Given the description of an element on the screen output the (x, y) to click on. 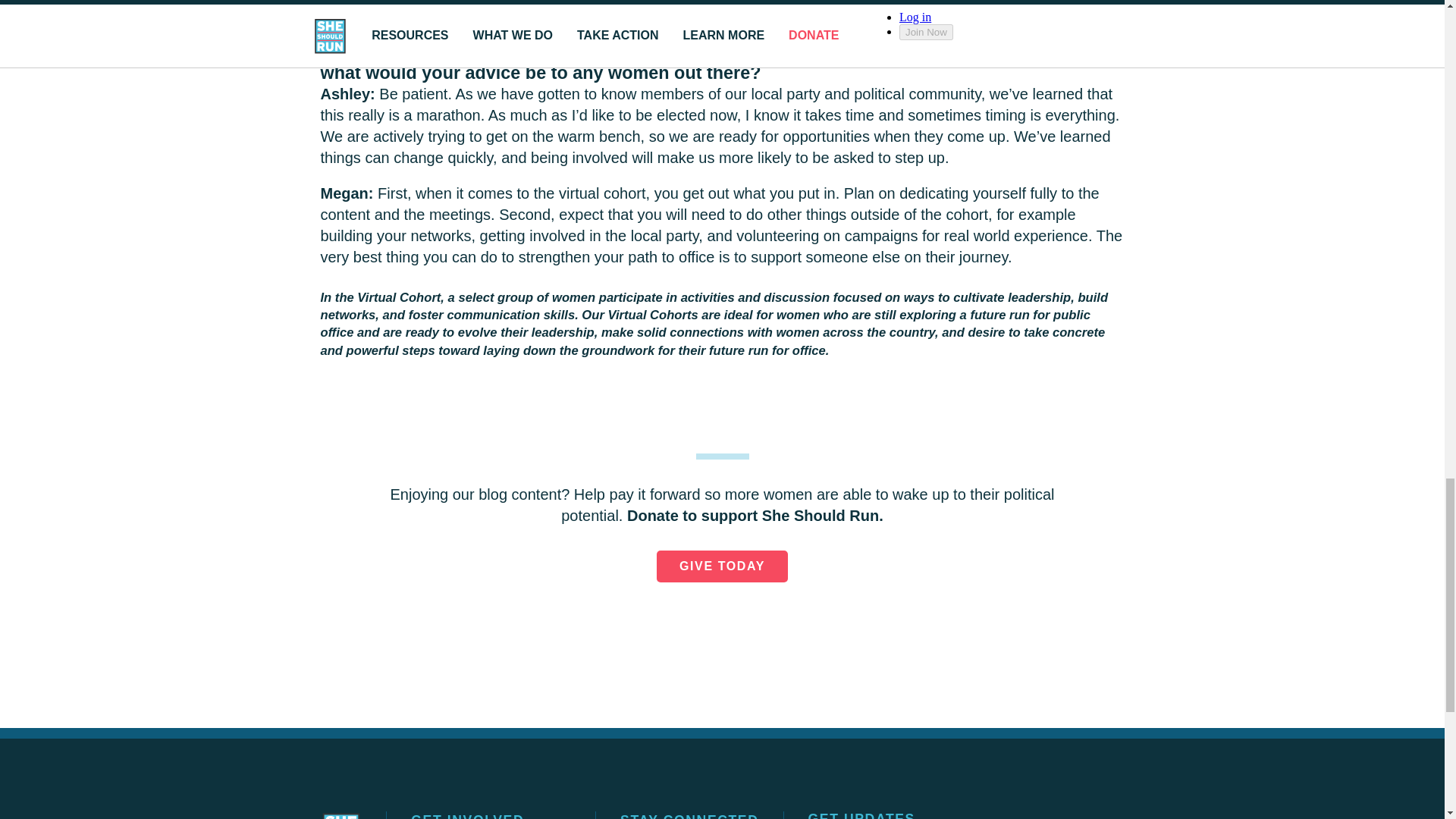
STAY CONNECTED (689, 816)
GET INVOLVED (467, 816)
GIVE TODAY (721, 566)
